Given the description of an element on the screen output the (x, y) to click on. 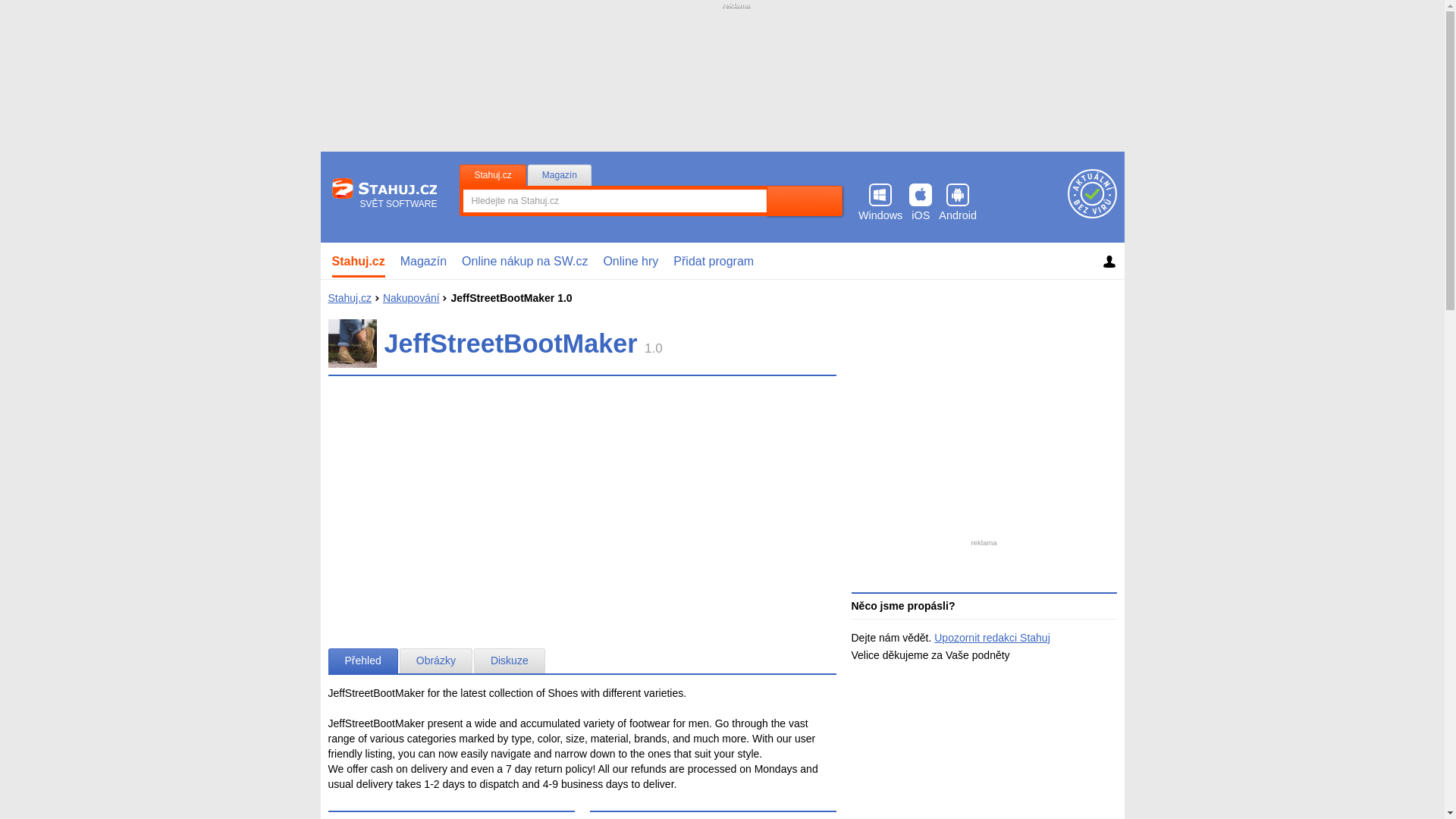
Windows (880, 202)
Diskuze (509, 660)
Online hry (630, 261)
Upozornit redakci Stahuj (991, 637)
Stahuj.cz (349, 297)
Advertisement (983, 397)
Hledat (805, 200)
Advertisement (581, 499)
Android (957, 202)
Stahuj.cz (358, 261)
